Given the description of an element on the screen output the (x, y) to click on. 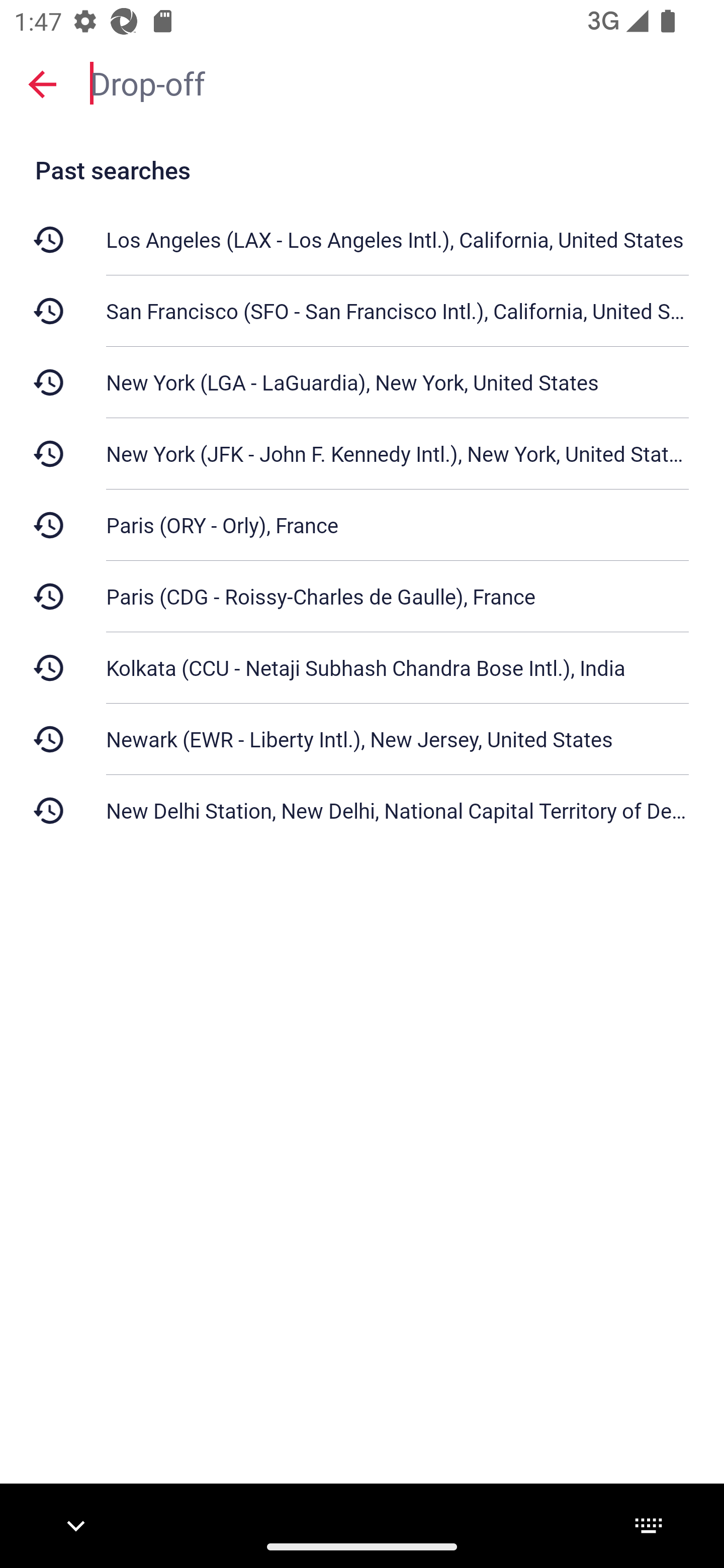
Close search screen (42, 84)
Drop-off,  (397, 82)
